Given the description of an element on the screen output the (x, y) to click on. 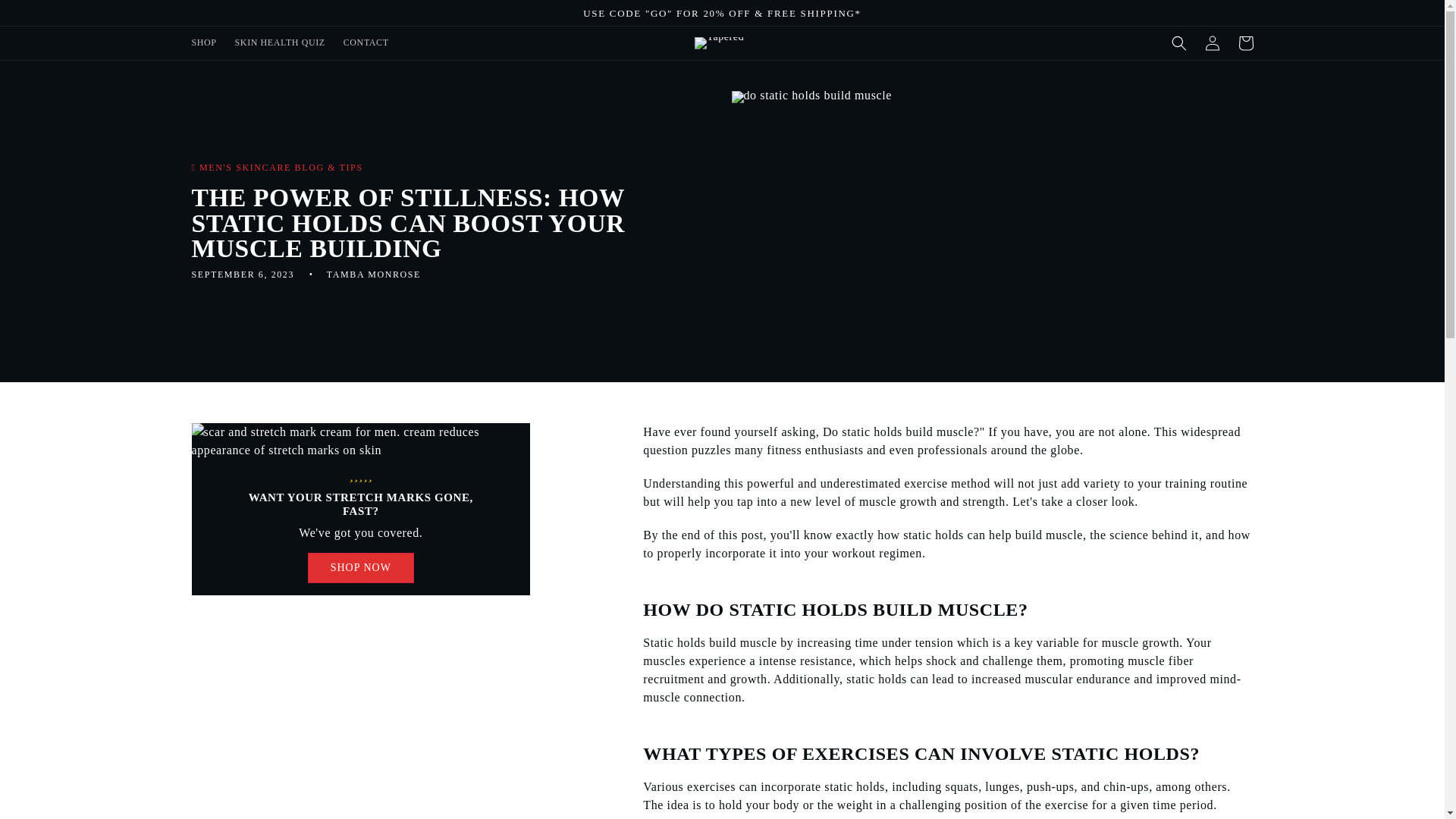
SHOP NOW (360, 567)
TAMBA MONROSE (373, 274)
SHOP (203, 42)
SKIP TO CONTENT (45, 17)
SKIN HEALTH QUIZ (279, 42)
Cart (1245, 42)
CONTACT (365, 42)
Log in (1211, 42)
